Given the description of an element on the screen output the (x, y) to click on. 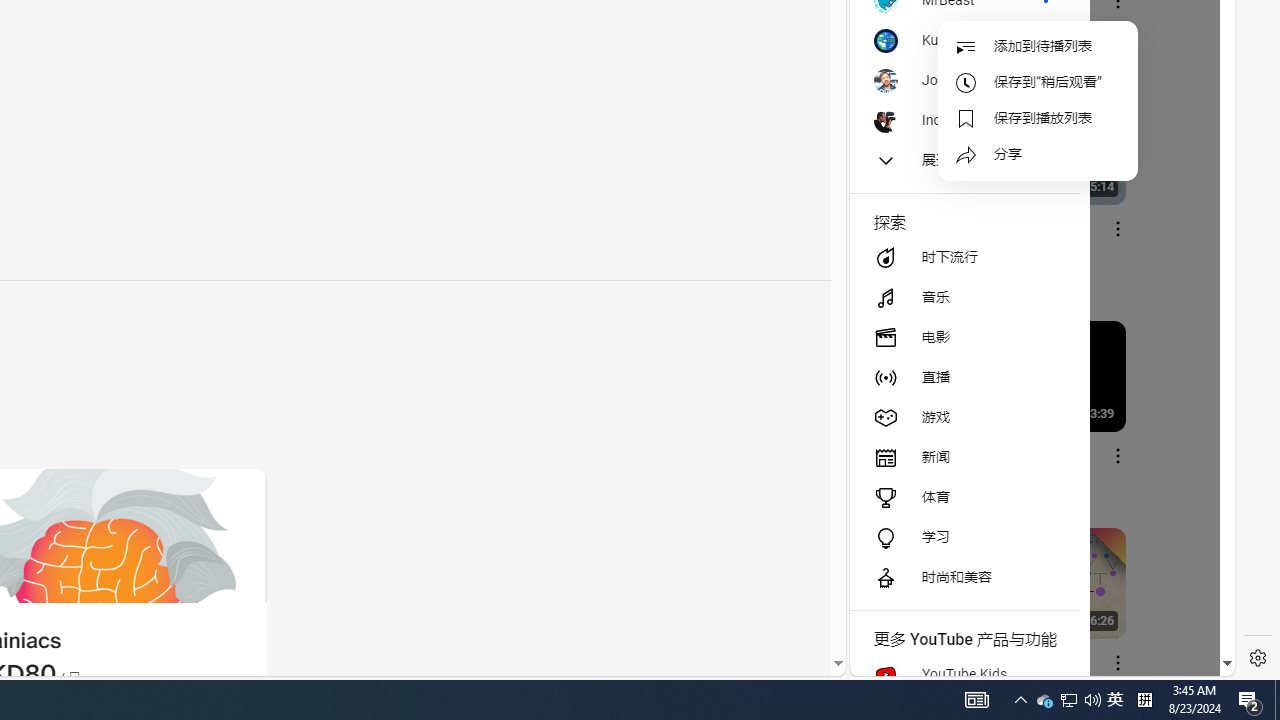
you (1034, 609)
YouTube - YouTube (1034, 266)
Indigo Traveller (963, 120)
Click to scroll right (1196, 83)
YouTube (1034, 432)
US[ju] (917, 660)
